Given the description of an element on the screen output the (x, y) to click on. 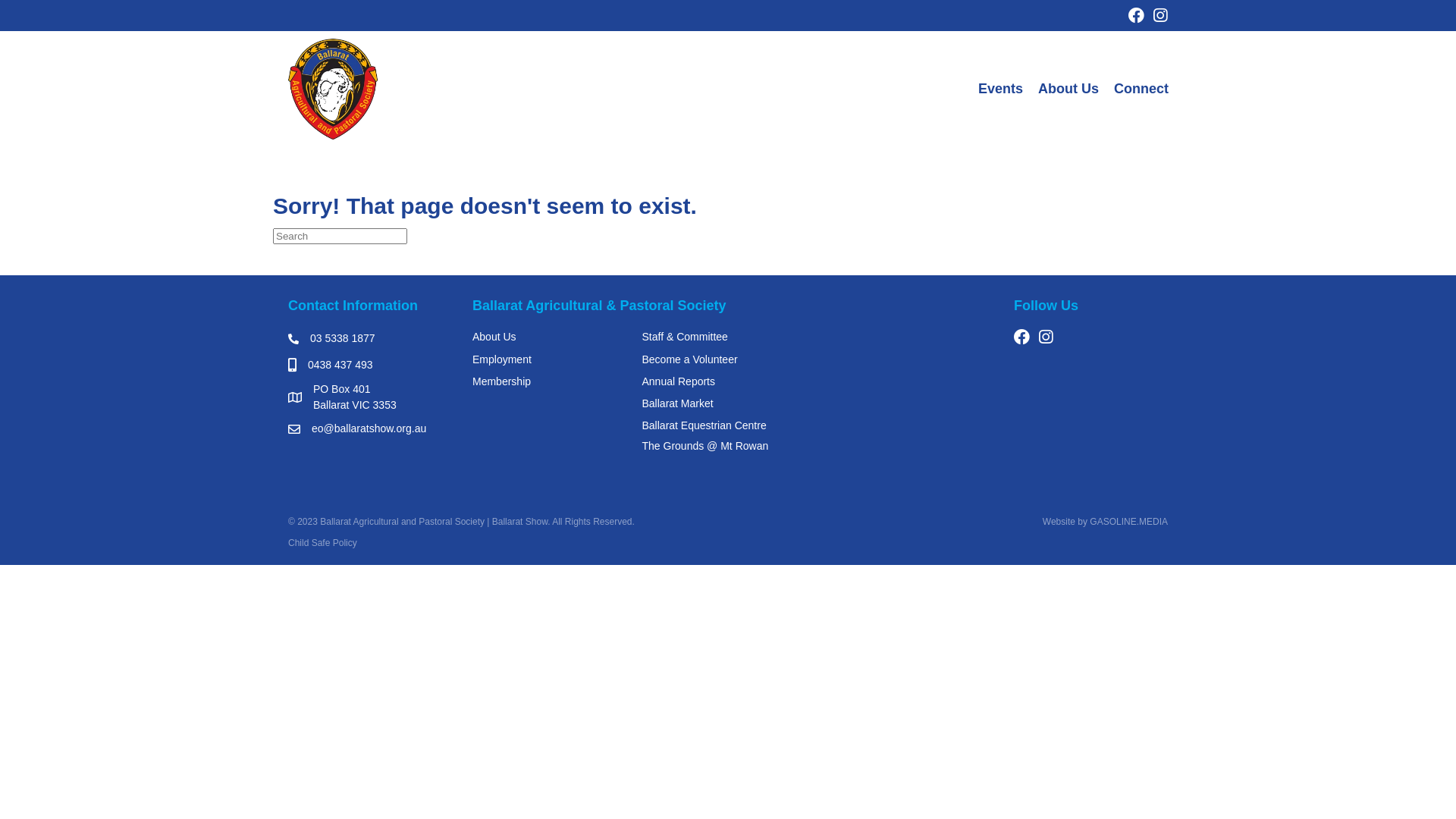
Ballarat Market Element type: text (676, 403)
About Us Element type: text (494, 336)
Type and press Enter to search. Element type: hover (728, 235)
PO Box 401
Ballarat VIC 3353 Element type: text (354, 397)
Facebook Element type: hover (1021, 337)
Facebook Element type: hover (1136, 15)
Child Safe Policy Element type: text (322, 542)
GASOLINE.MEDIA Element type: text (1128, 521)
Events Element type: text (1000, 88)
Annual Reports Element type: text (678, 381)
Staff & Committee Element type: text (684, 336)
BAP-BEC-Logo-e1646101835542 Element type: hover (333, 88)
03 5338 1877 Element type: text (342, 338)
Membership Element type: text (501, 381)
Connect Element type: text (1141, 88)
eo@ballaratshow.org.au Element type: text (368, 428)
Become a Volunteer Element type: text (689, 359)
Ballarat Equestrian Centre Element type: text (703, 425)
Instagram Element type: hover (1159, 15)
About Us Element type: text (1068, 88)
The Grounds @ Mt Rowan Element type: text (704, 445)
Instagram Element type: hover (1045, 337)
0438 437 493 Element type: text (340, 365)
Employment Element type: text (501, 359)
